Given the description of an element on the screen output the (x, y) to click on. 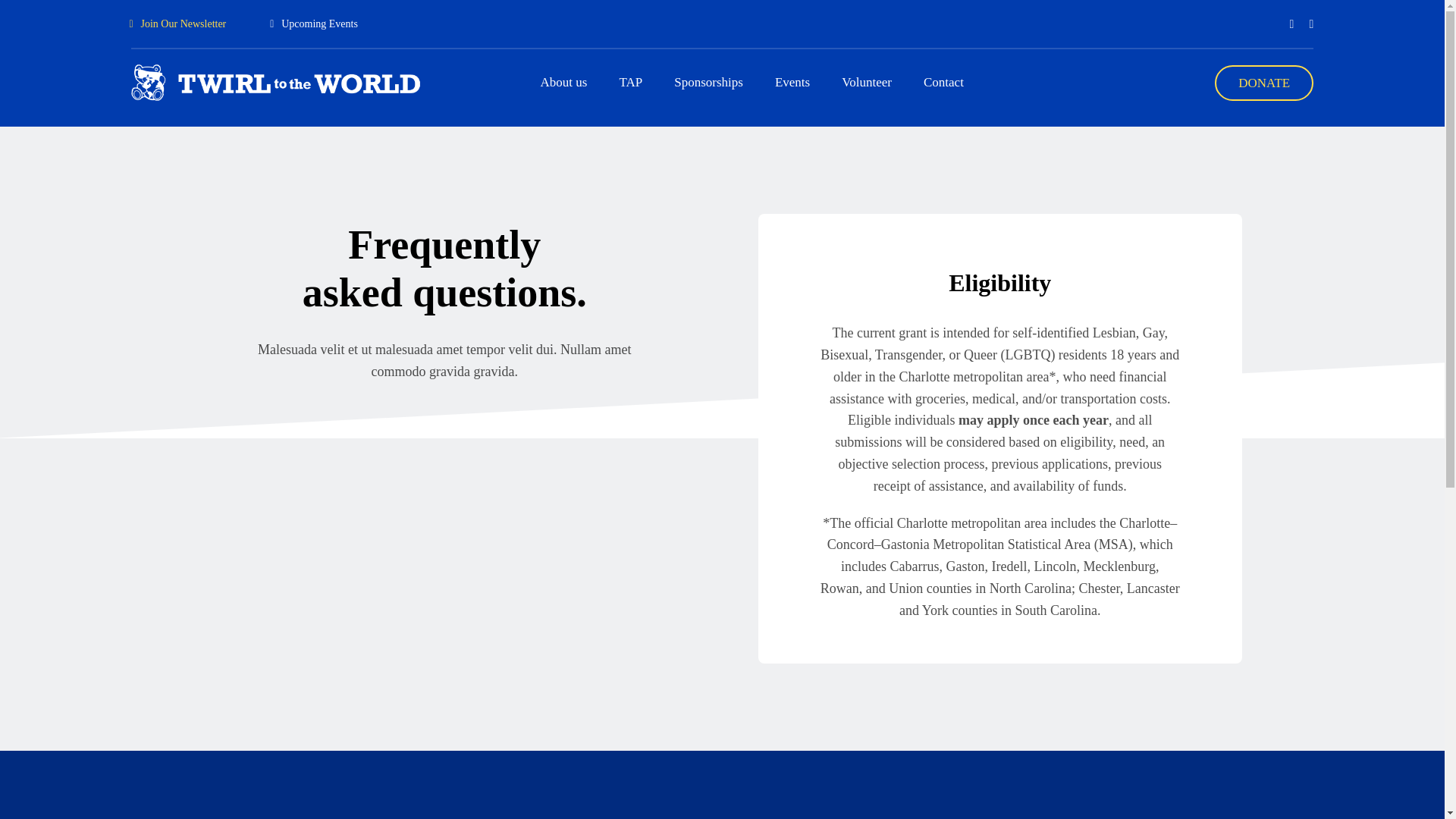
Join Our Newsletter (177, 23)
Volunteer (866, 82)
DONATE (1263, 82)
Sponsorships (708, 82)
Upcoming Events (313, 23)
TAP (630, 82)
About us (563, 82)
Contact (943, 82)
Events (792, 82)
